Given the description of an element on the screen output the (x, y) to click on. 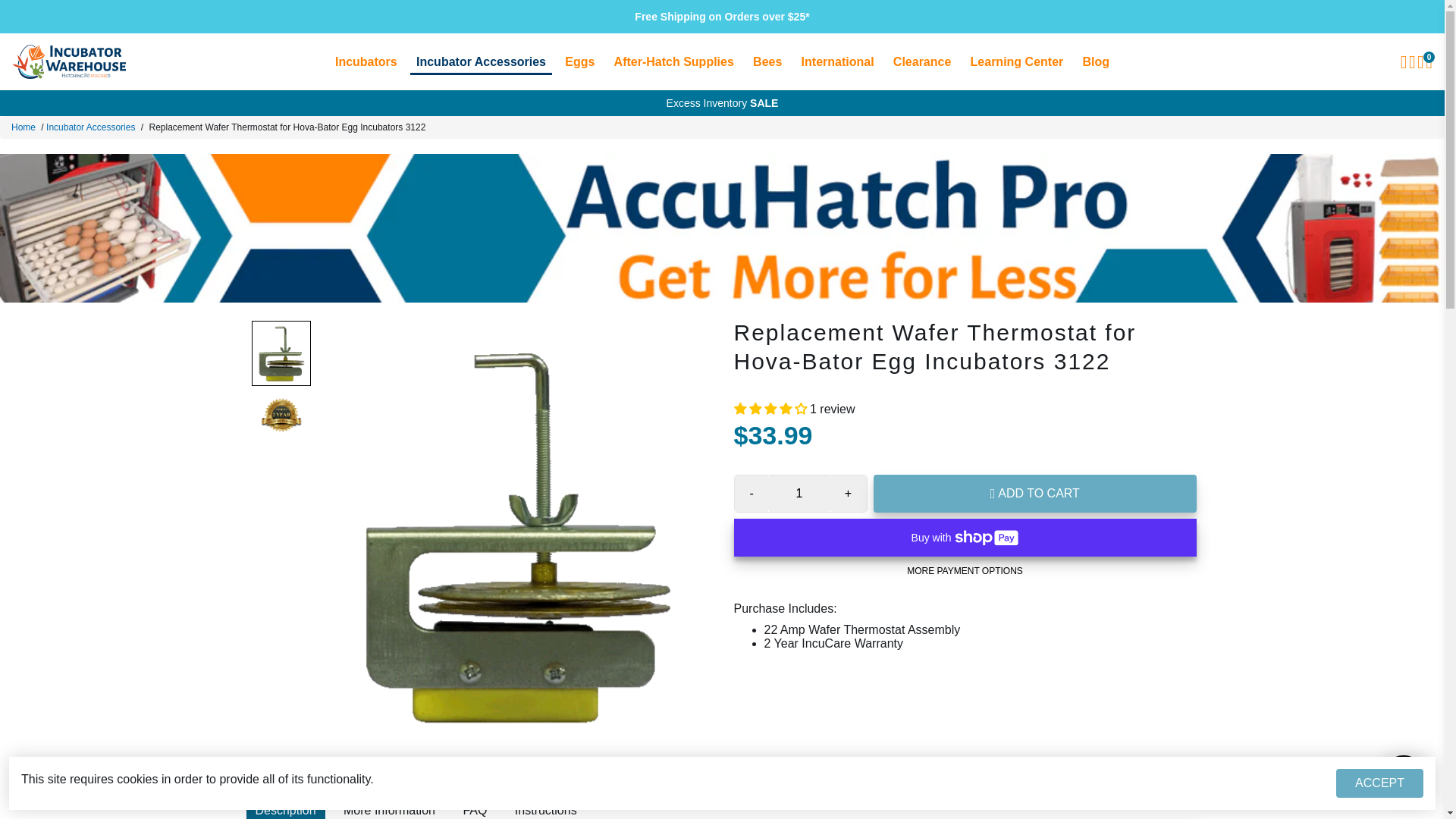
Eggs (579, 61)
Home (22, 127)
Excess Inventory Sale (722, 102)
Incubators (366, 61)
1 (798, 493)
Incubator Accessories (480, 61)
After-Hatch Supplies (673, 61)
